Given the description of an element on the screen output the (x, y) to click on. 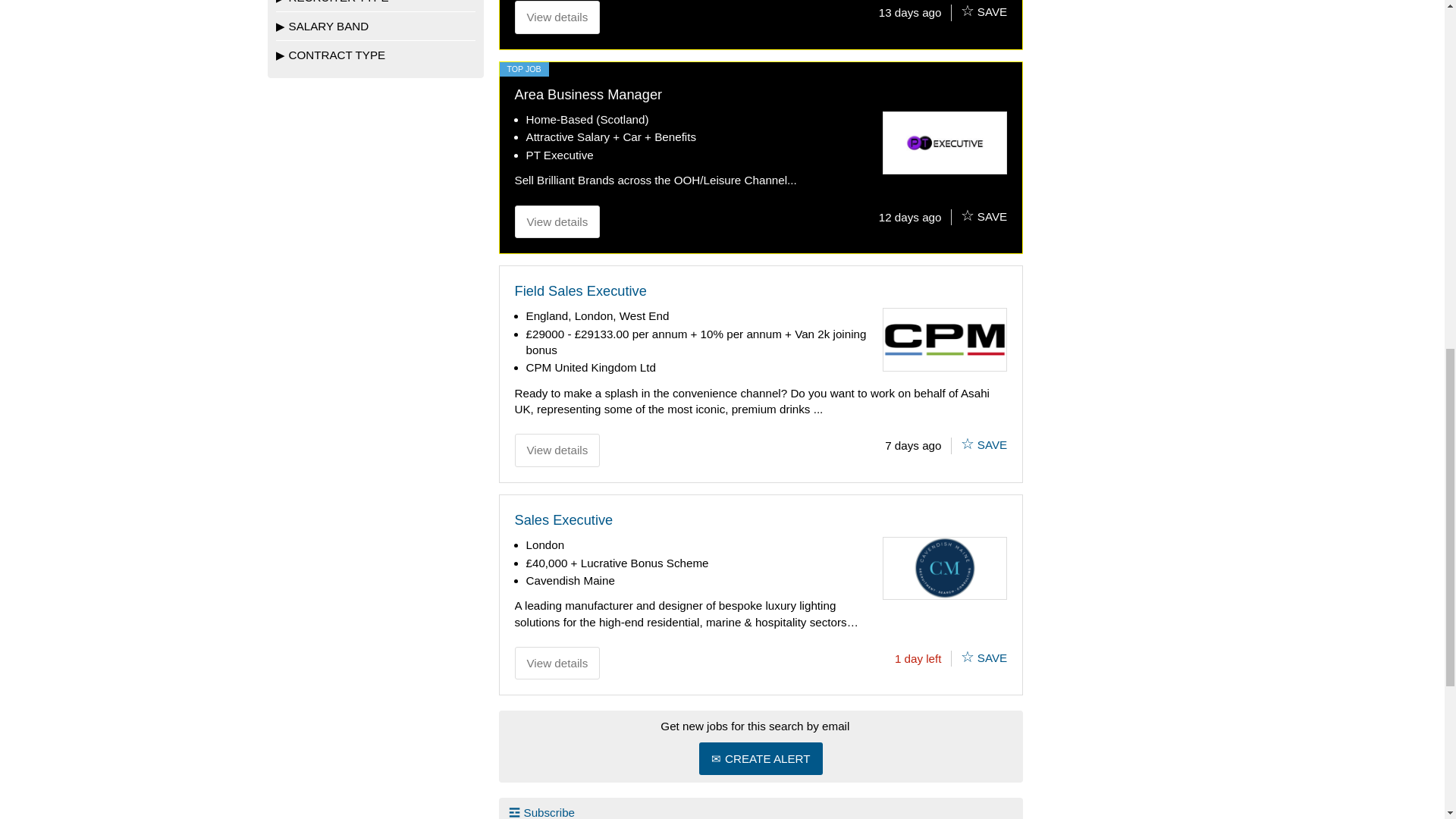
SALARY BAND (376, 25)
CONTRACT TYPE (376, 54)
RECRUITER TYPE (376, 5)
